Given the description of an element on the screen output the (x, y) to click on. 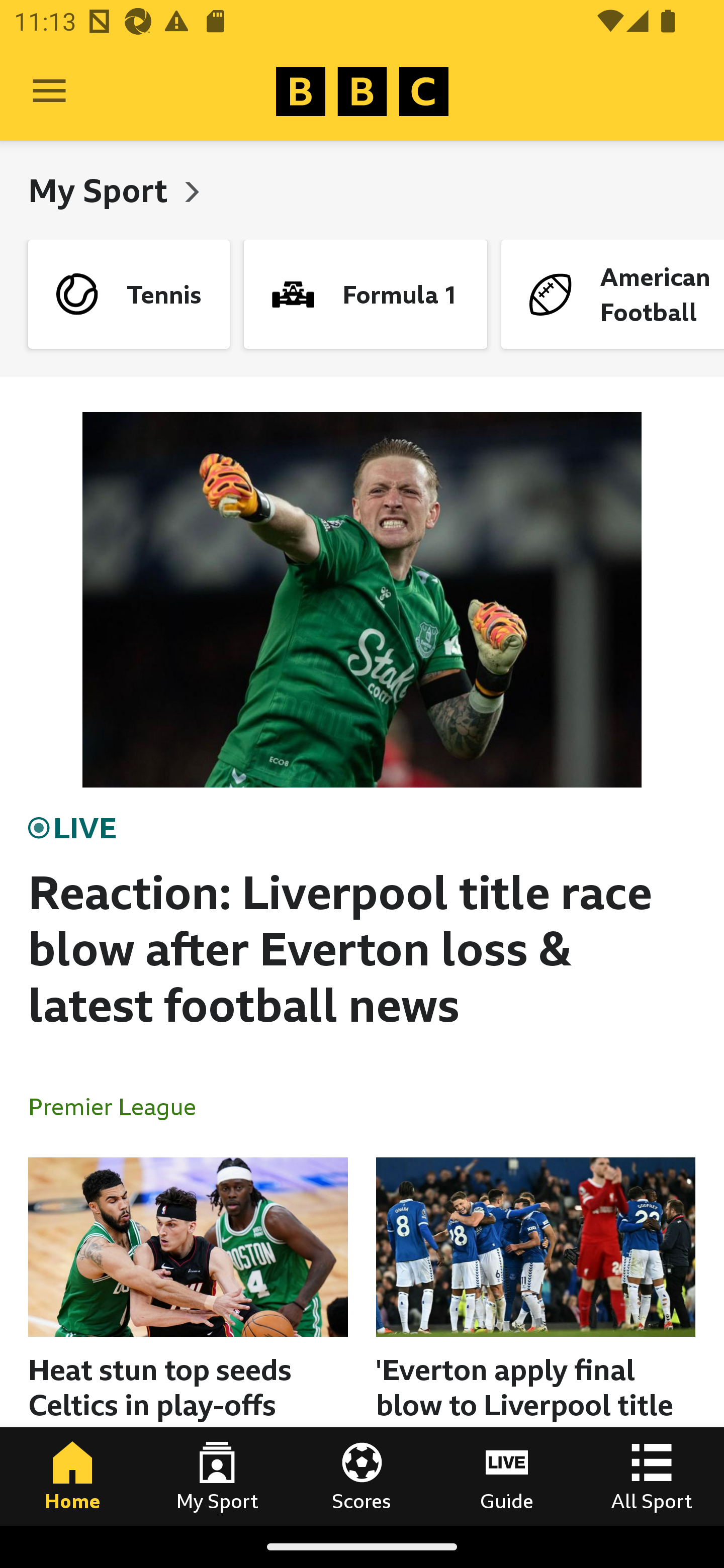
Open Menu (49, 91)
My Sport (101, 190)
Premier League In the section Premier League (119, 1106)
My Sport (216, 1475)
Scores (361, 1475)
Guide (506, 1475)
All Sport (651, 1475)
